Given the description of an element on the screen output the (x, y) to click on. 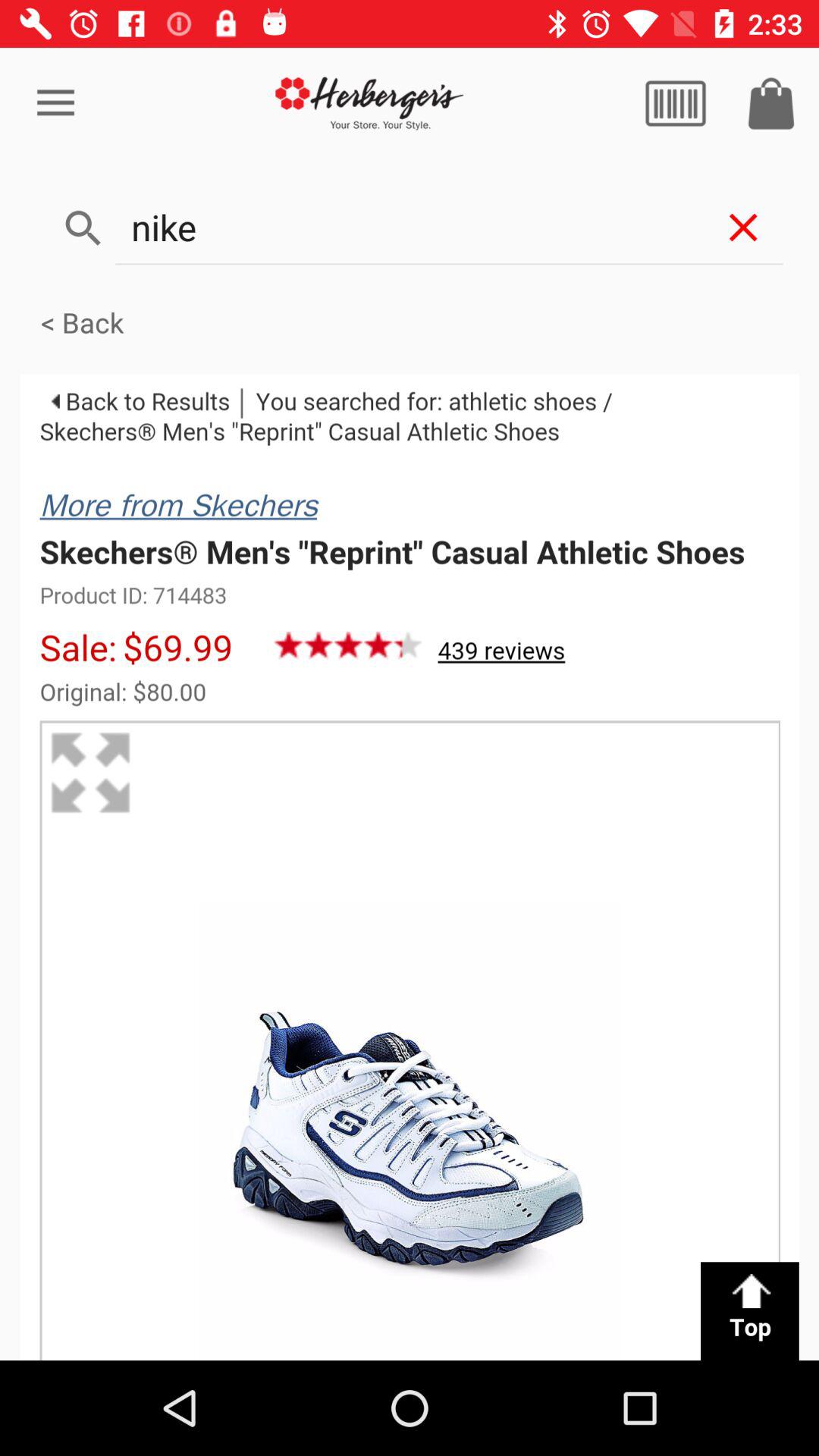
click the bag (771, 103)
